Given the description of an element on the screen output the (x, y) to click on. 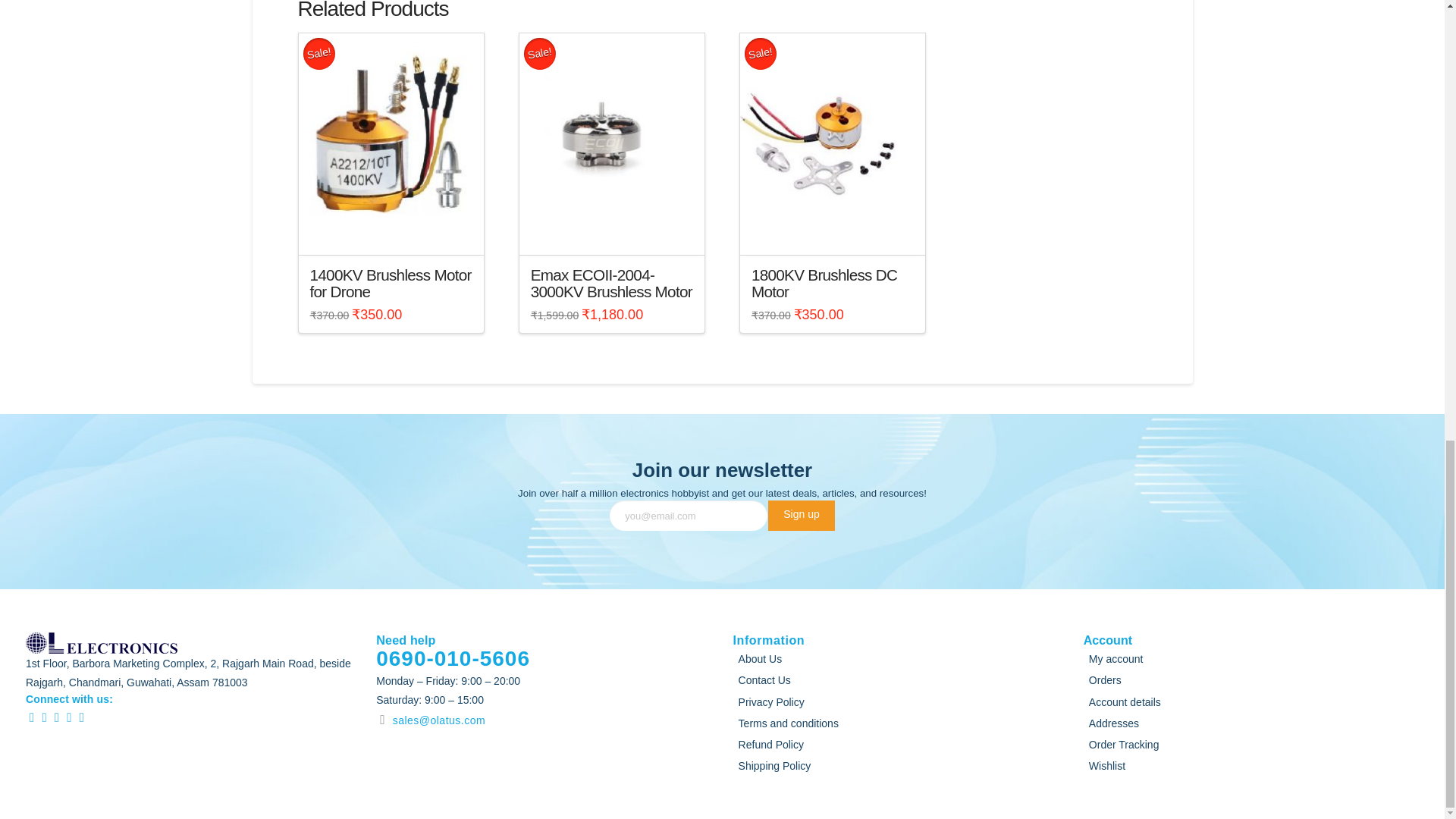
Sign up (801, 515)
Sign up (801, 515)
Emax ECOII-2004-3000KV Brushless Motor (612, 283)
1400KV Brushless Motor for Drone (389, 283)
1800KV Brushless DC Motor (823, 283)
